Given the description of an element on the screen output the (x, y) to click on. 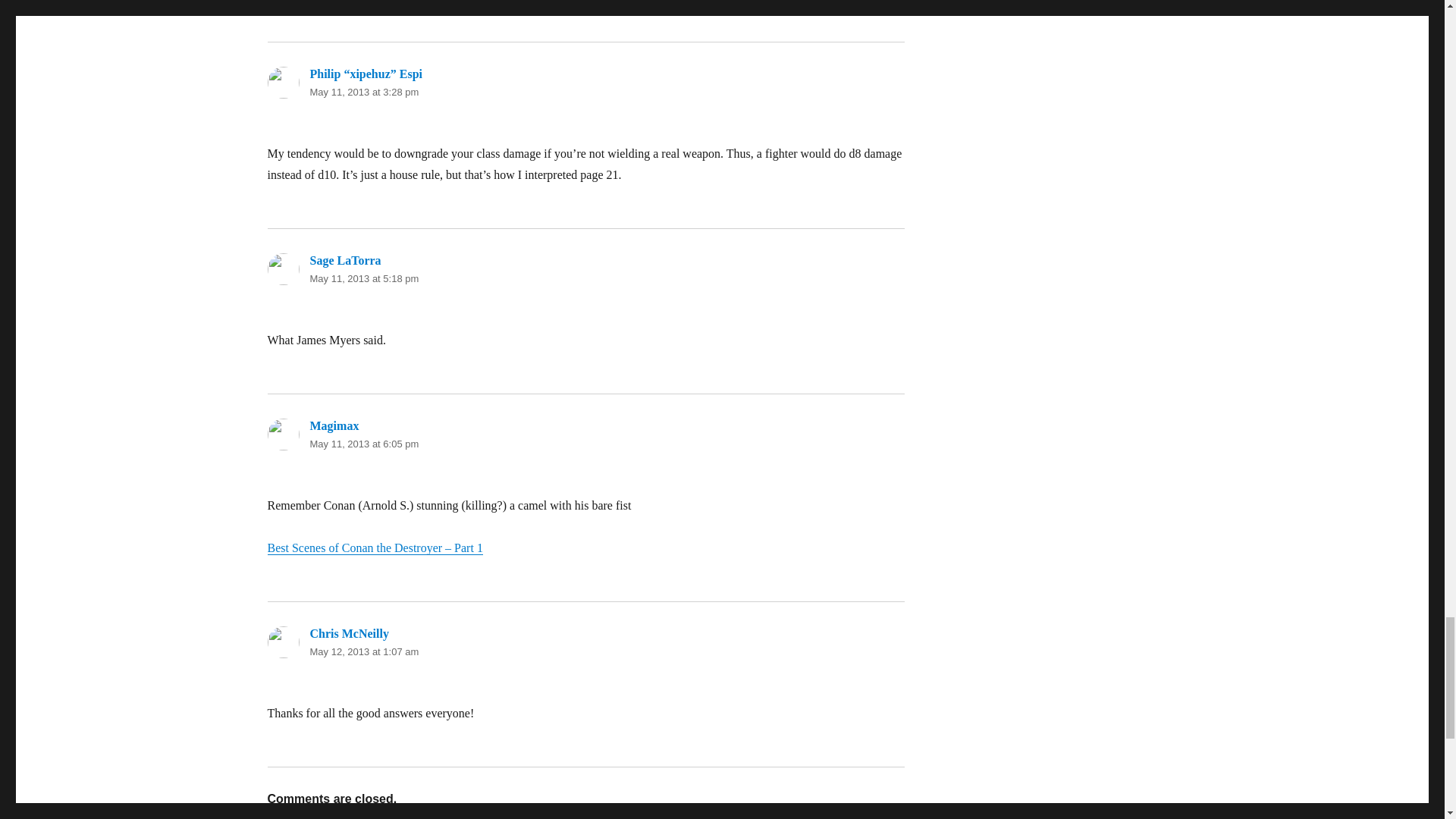
Chris McNeilly (348, 633)
May 12, 2013 at 1:07 am (363, 651)
Sage LaTorra (344, 259)
Magimax (333, 425)
May 11, 2013 at 3:28 pm (363, 91)
May 11, 2013 at 6:05 pm (363, 443)
May 11, 2013 at 5:18 pm (363, 278)
